Given the description of an element on the screen output the (x, y) to click on. 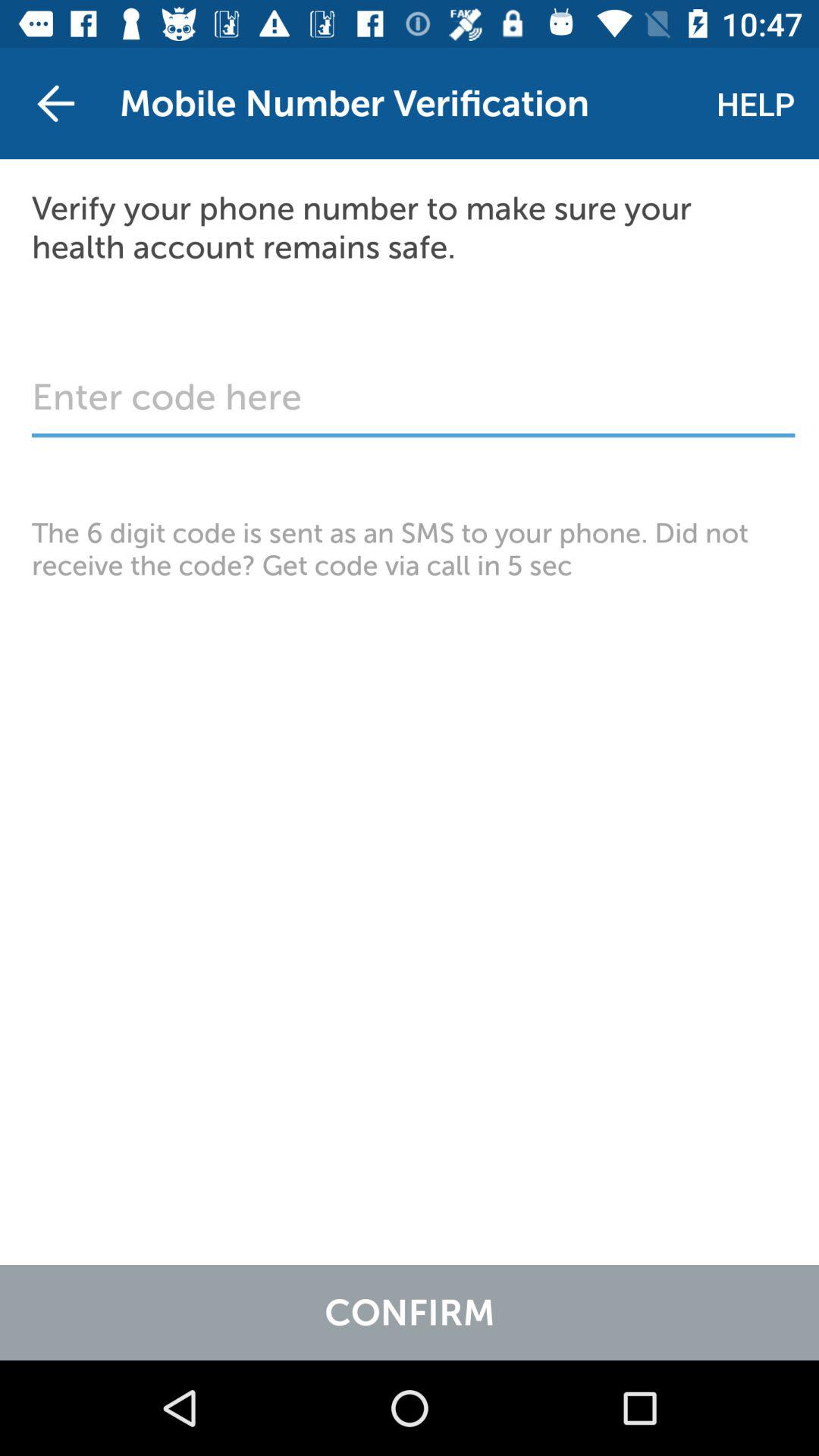
turn off the help icon (755, 103)
